Given the description of an element on the screen output the (x, y) to click on. 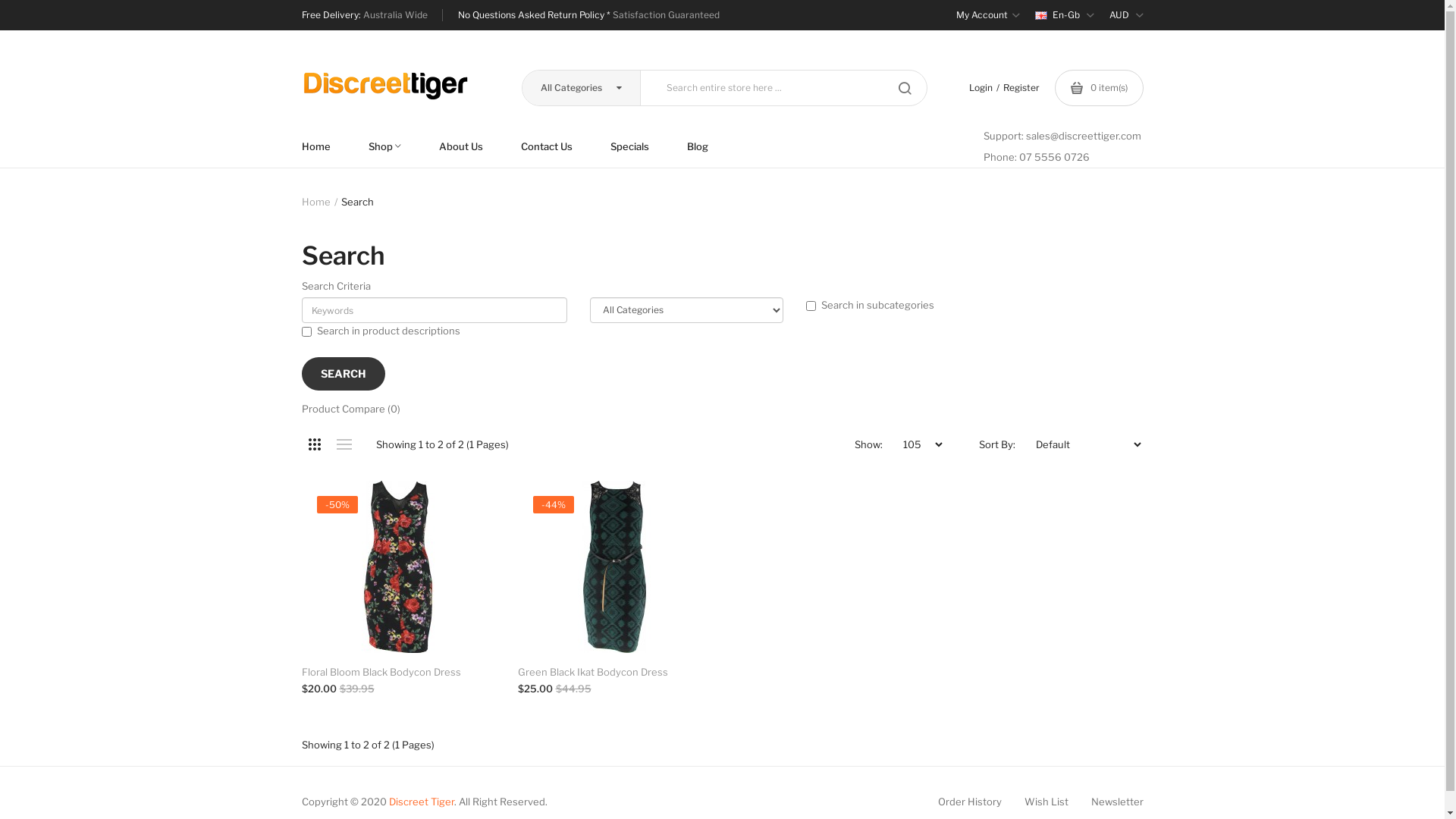
Product Compare (0) Element type: text (350, 408)
AUD Element type: text (1125, 15)
Green Black Ikat Bodycon Dress Element type: hover (614, 566)
List Element type: text (343, 443)
Specials Element type: text (629, 146)
0 item(s) Element type: text (1098, 87)
English Element type: hover (1040, 15)
Home Element type: text (315, 201)
My Account Element type: text (987, 15)
Green Black Ikat Bodycon Dress Element type: text (613, 671)
Search Element type: text (357, 201)
Grid Element type: text (314, 443)
Shop Element type: text (383, 146)
Register Element type: text (1020, 87)
Home Element type: text (325, 146)
Floral Bloom Black Bodycon Dress Element type: hover (397, 566)
About Us Element type: text (461, 146)
Newsletter Element type: text (1116, 801)
Order History Element type: text (969, 801)
Contact Us Element type: text (546, 146)
Blog Element type: text (696, 146)
Discreet Tiger Element type: text (420, 801)
Login Element type: text (980, 87)
Discreet Tiger Element type: hover (384, 85)
Wish List Element type: text (1045, 801)
En-Gb Element type: text (1063, 15)
Floral Bloom Black Bodycon Dress Element type: text (398, 671)
